Given the description of an element on the screen output the (x, y) to click on. 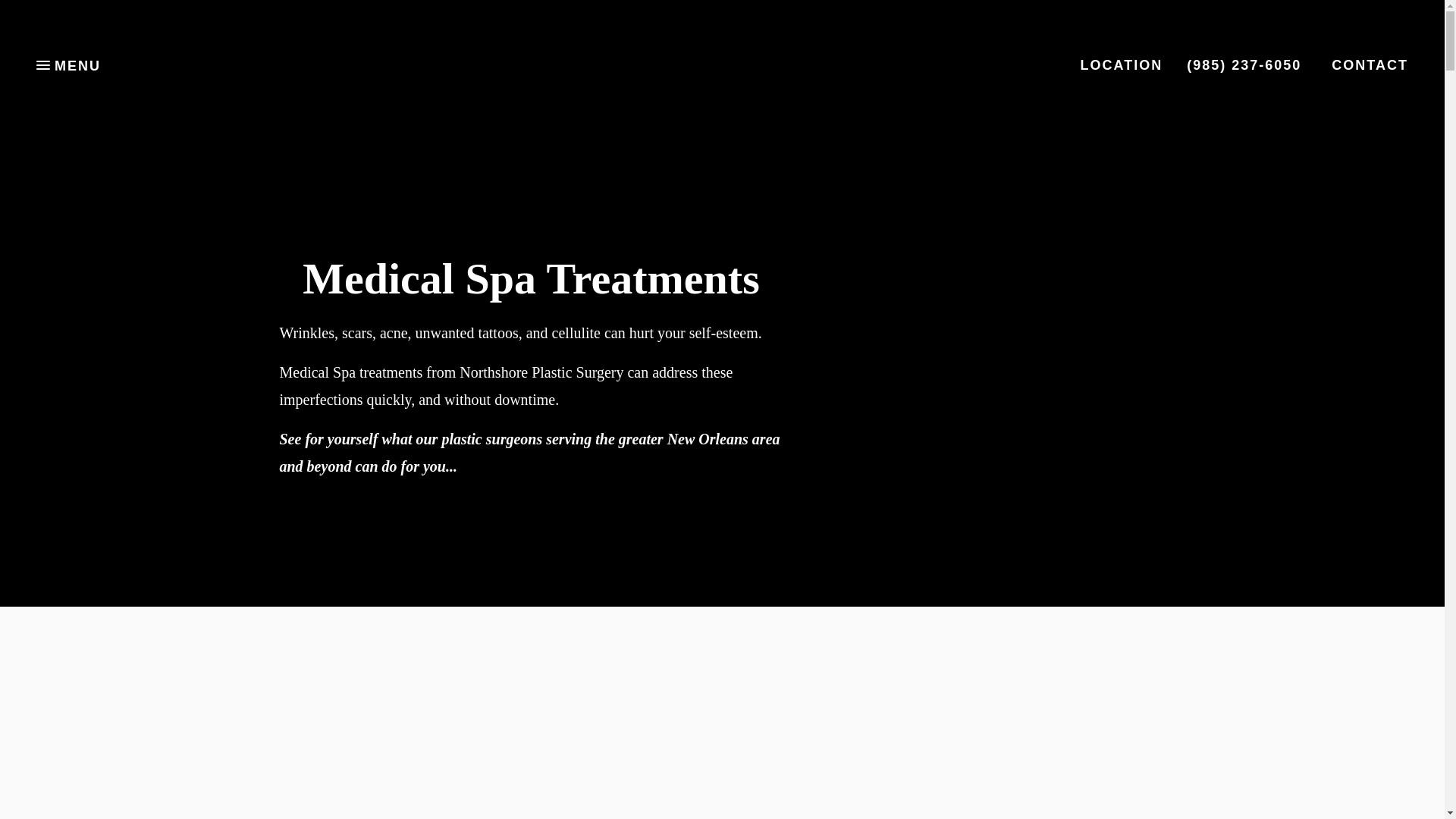
LOCATION (1121, 65)
MENU (68, 65)
CONTACT (1369, 65)
